Given the description of an element on the screen output the (x, y) to click on. 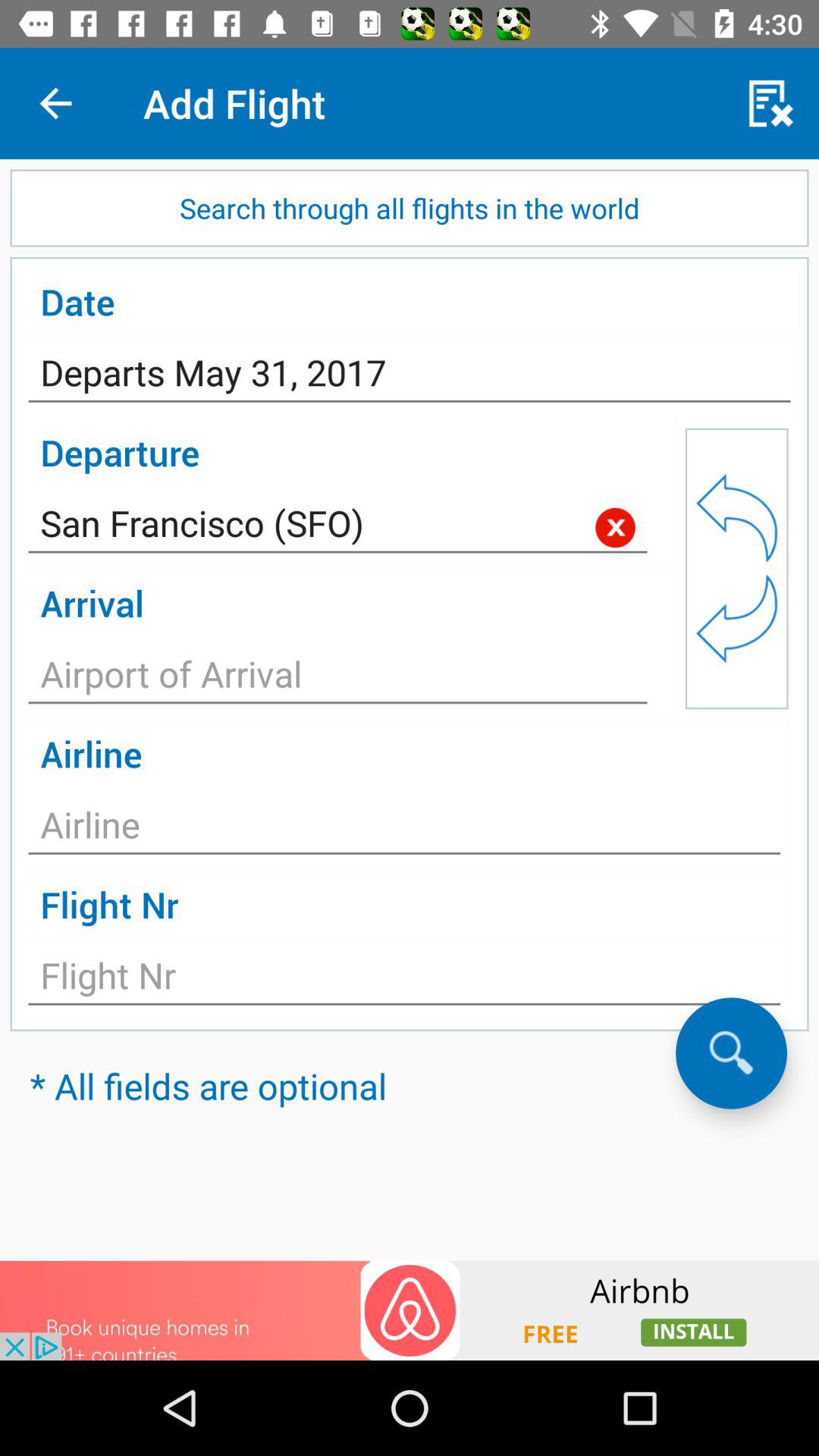
input flight number (404, 979)
